Given the description of an element on the screen output the (x, y) to click on. 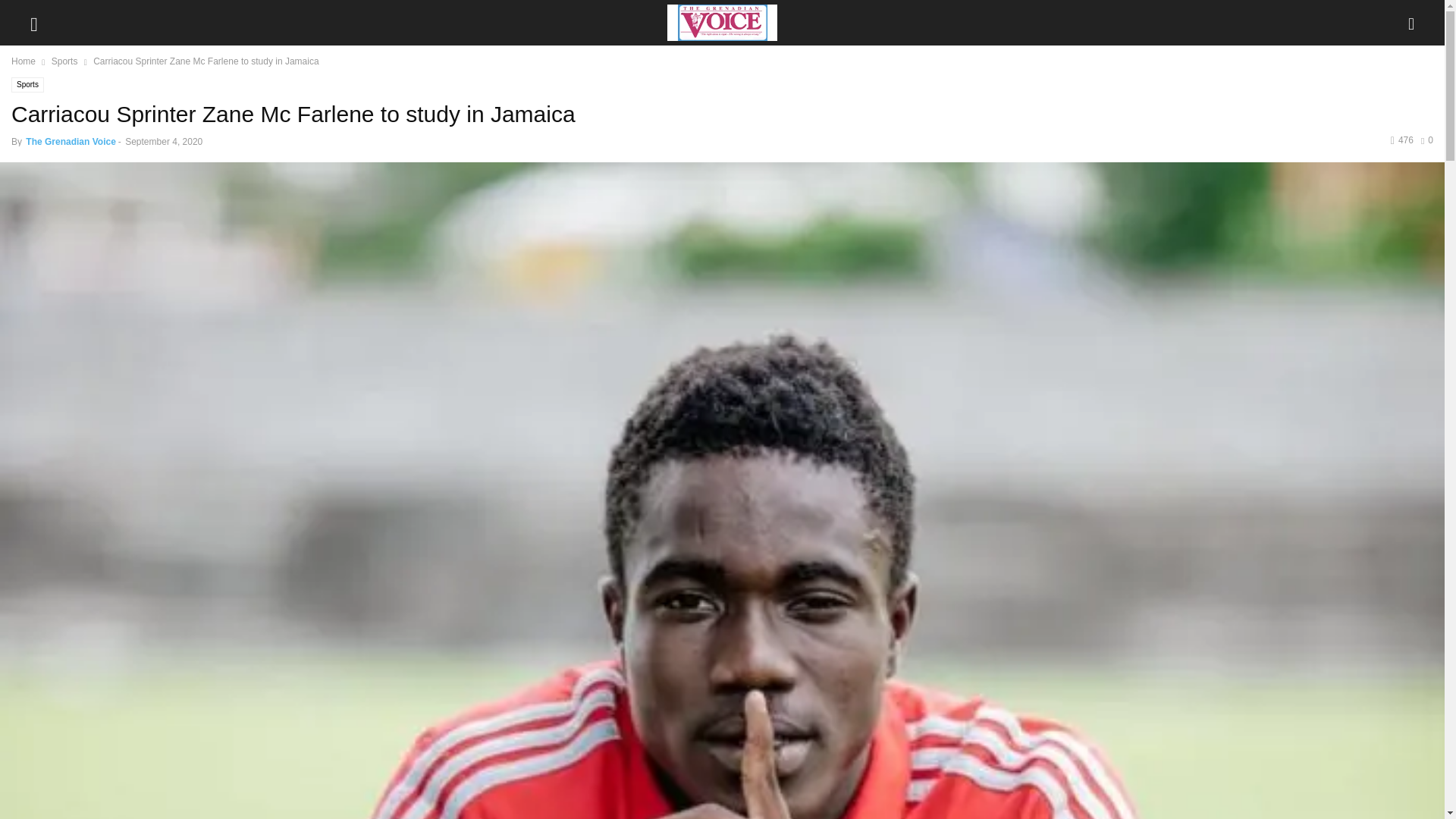
View all posts in Sports (64, 61)
Search (26, 11)
Home (22, 61)
Sports (27, 84)
Sports (64, 61)
The Grenadian Voice (70, 141)
0 (1426, 140)
